Given the description of an element on the screen output the (x, y) to click on. 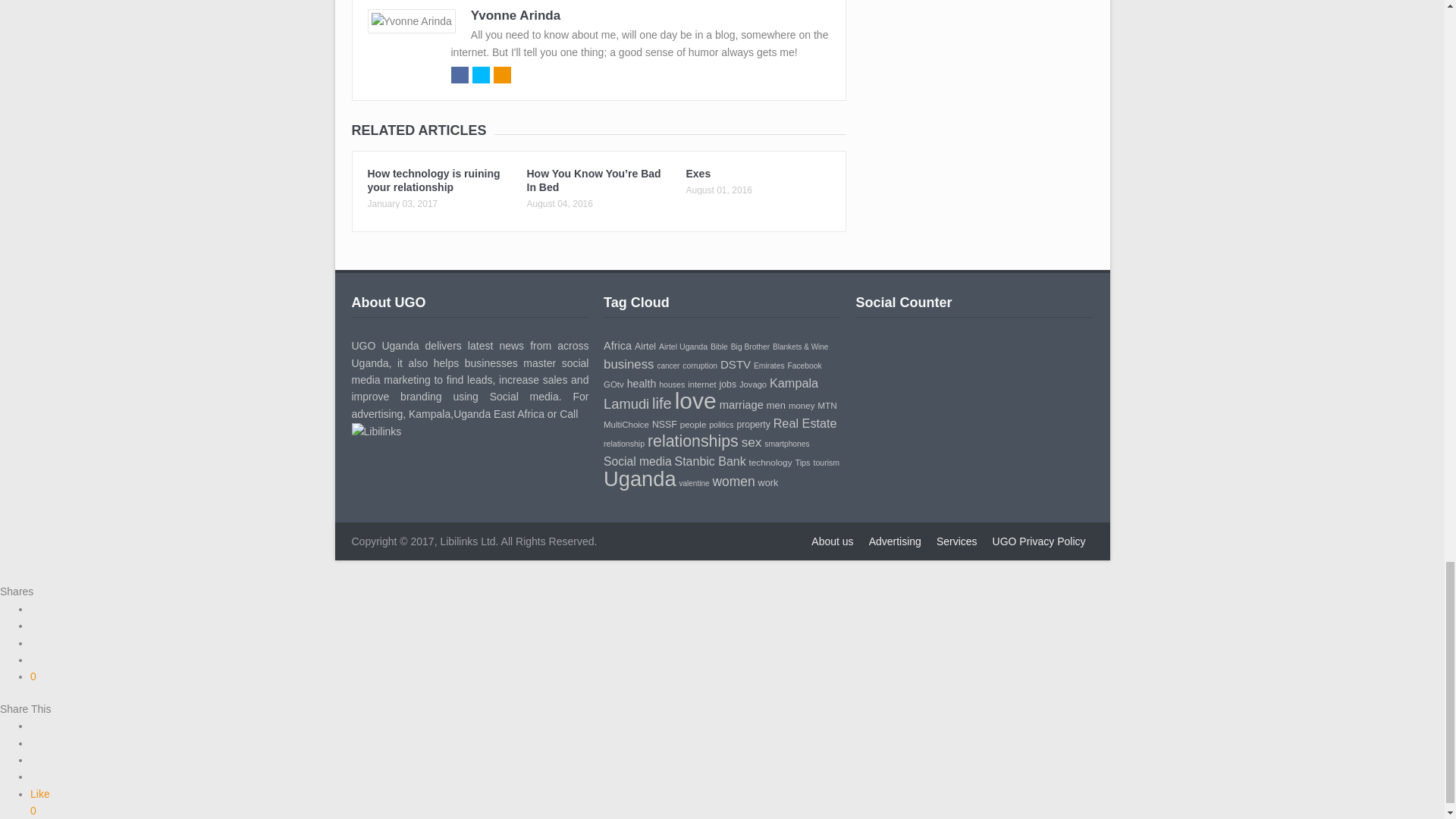
9 topics (800, 347)
9 topics (667, 365)
10 topics (750, 347)
11 topics (683, 346)
17 topics (645, 346)
32 topics (628, 364)
10 topics (699, 365)
24 topics (617, 345)
10 topics (719, 347)
